Given the description of an element on the screen output the (x, y) to click on. 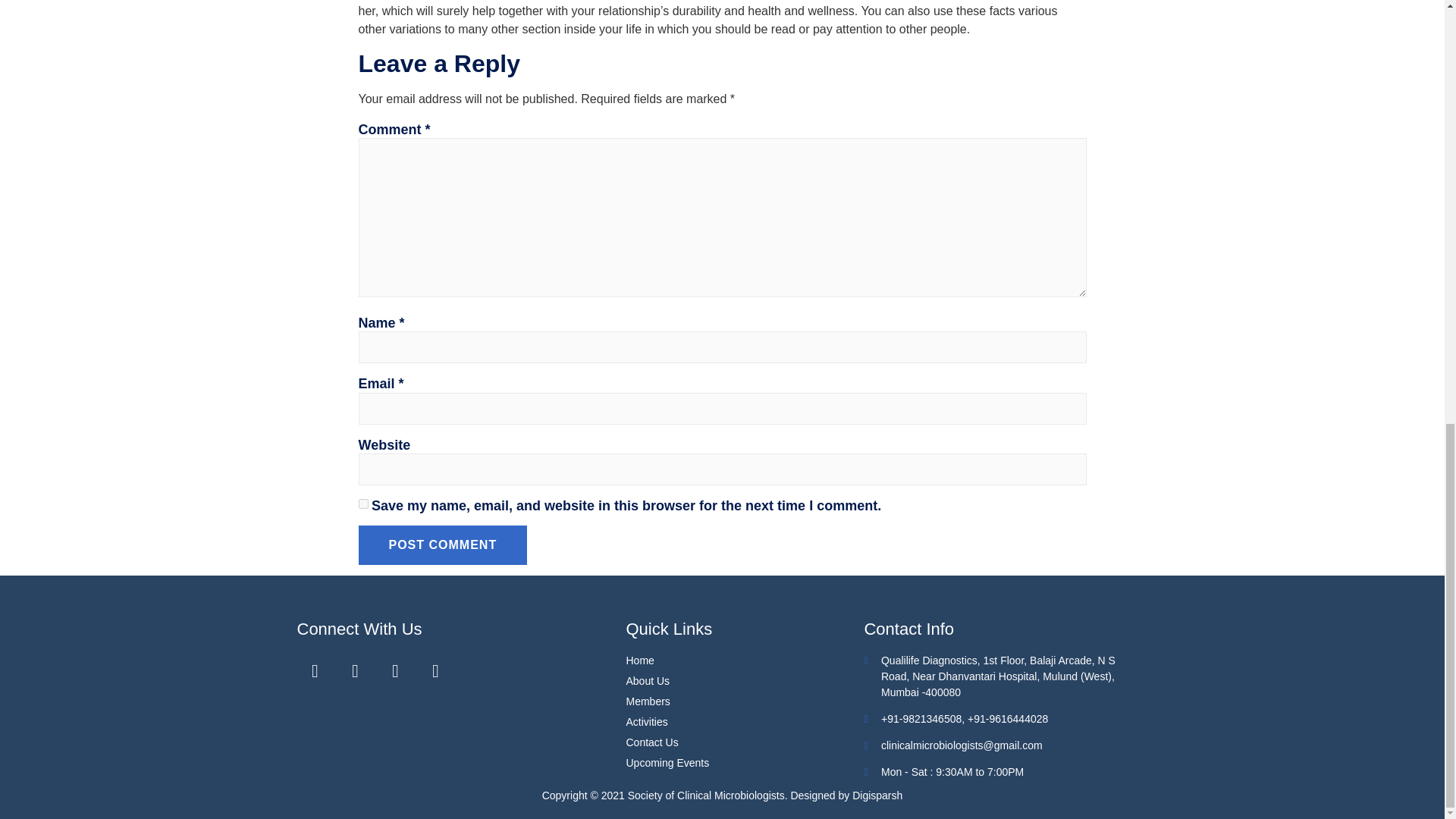
Post Comment (442, 545)
Post Comment (442, 545)
Home (744, 660)
Activities (744, 722)
Members (744, 701)
Contact Us (744, 742)
About Us (744, 681)
yes (363, 503)
Upcoming Events (744, 763)
